Given the description of an element on the screen output the (x, y) to click on. 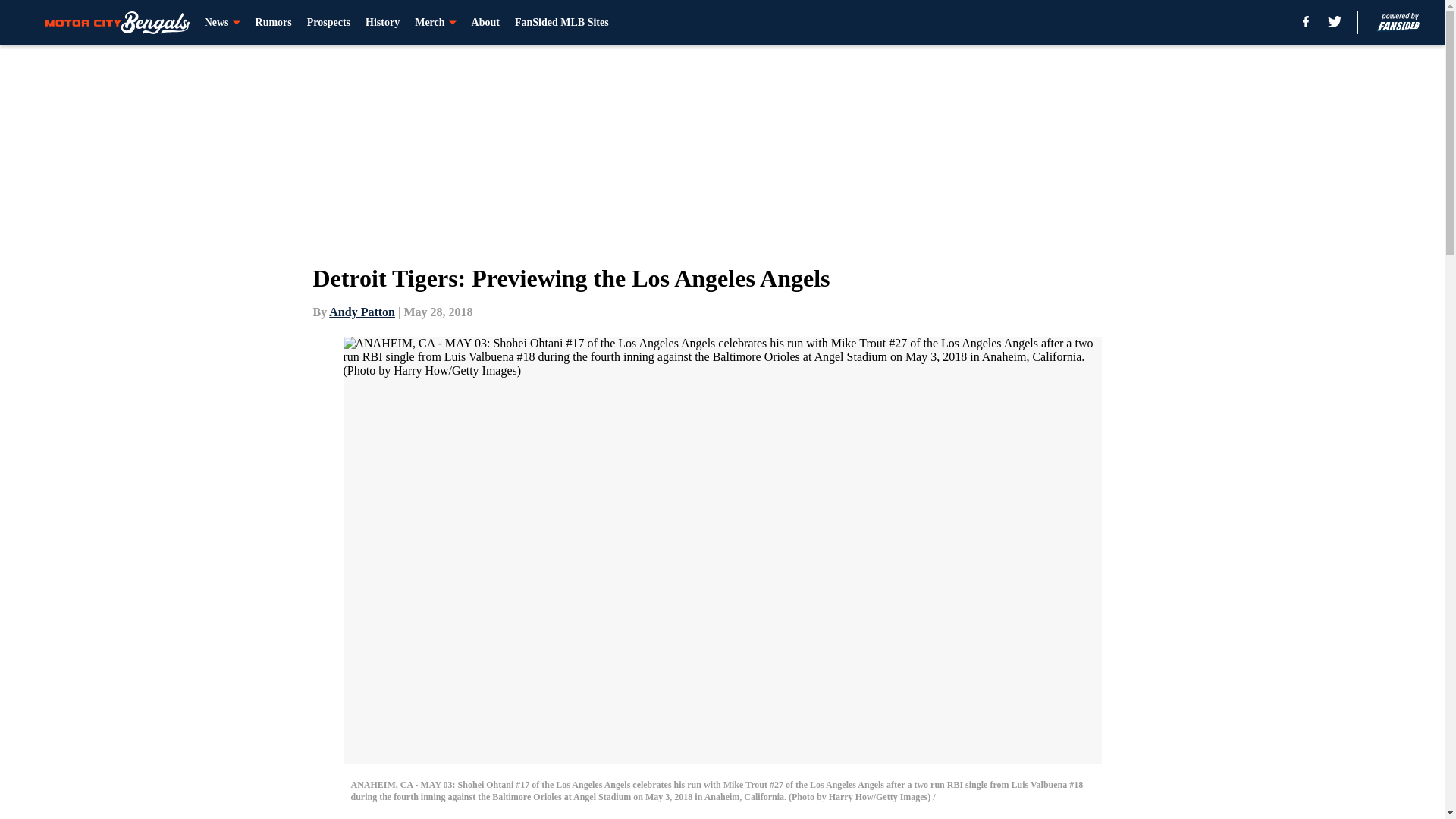
Andy Patton (361, 311)
About (485, 22)
History (381, 22)
Rumors (274, 22)
FanSided MLB Sites (561, 22)
Prospects (328, 22)
News (222, 22)
